Given the description of an element on the screen output the (x, y) to click on. 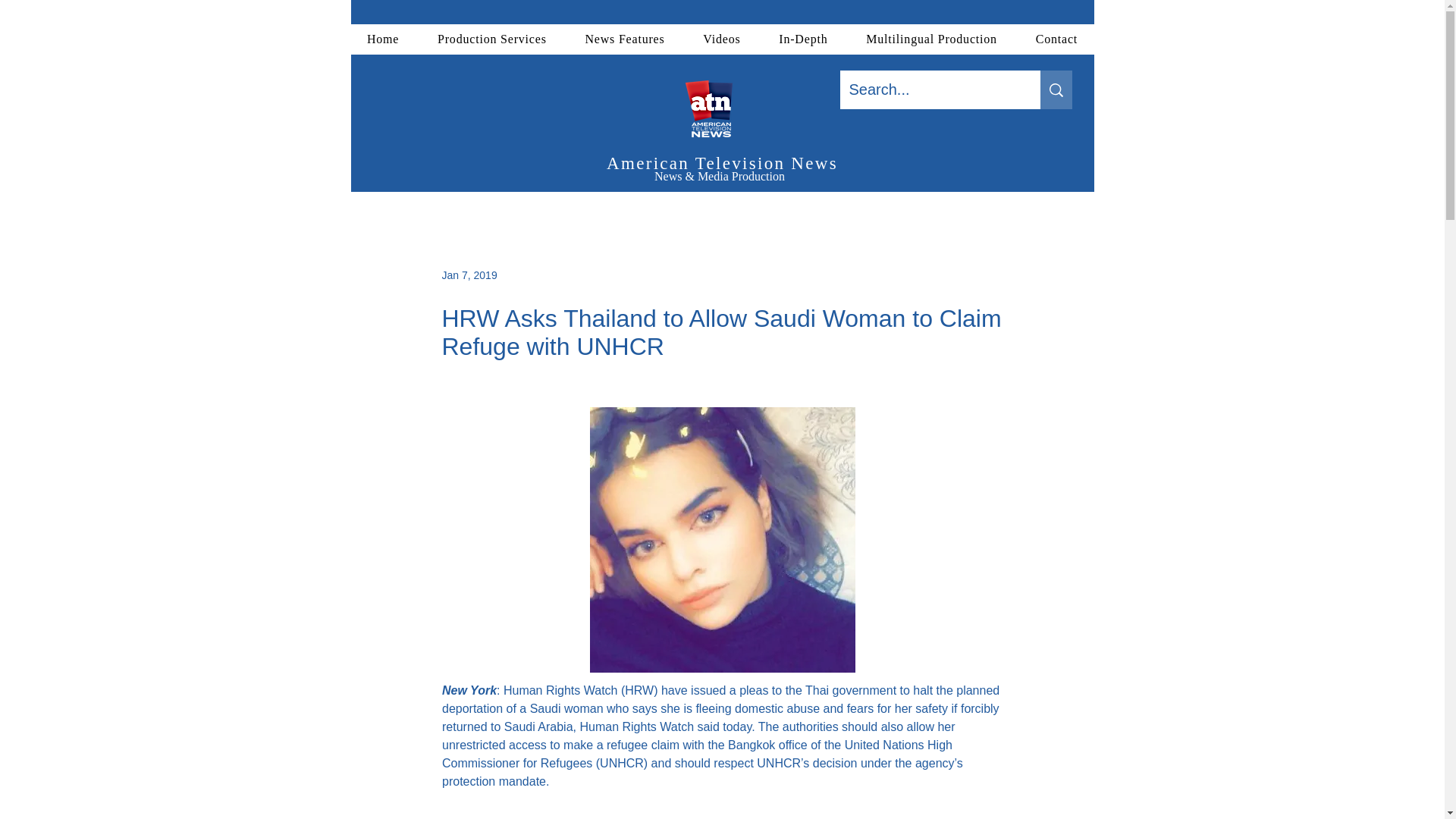
Production Services (492, 39)
Artboard 1.png (721, 112)
Home (382, 39)
Jan 7, 2019 (468, 274)
